Given the description of an element on the screen output the (x, y) to click on. 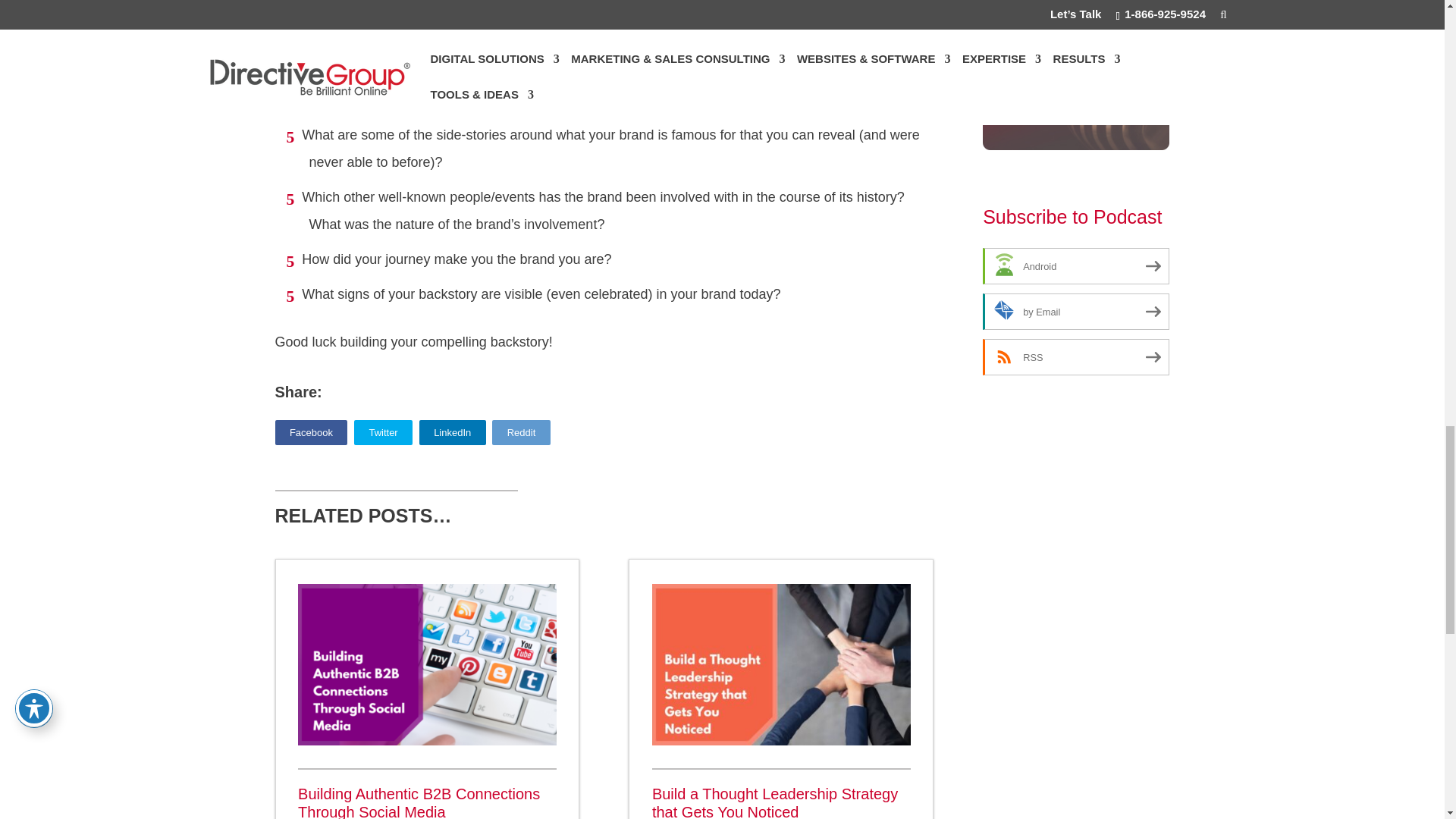
Subscribe on Android (1075, 266)
Subscribe via RSS (1075, 357)
Subscribe by Email (1075, 311)
